Given the description of an element on the screen output the (x, y) to click on. 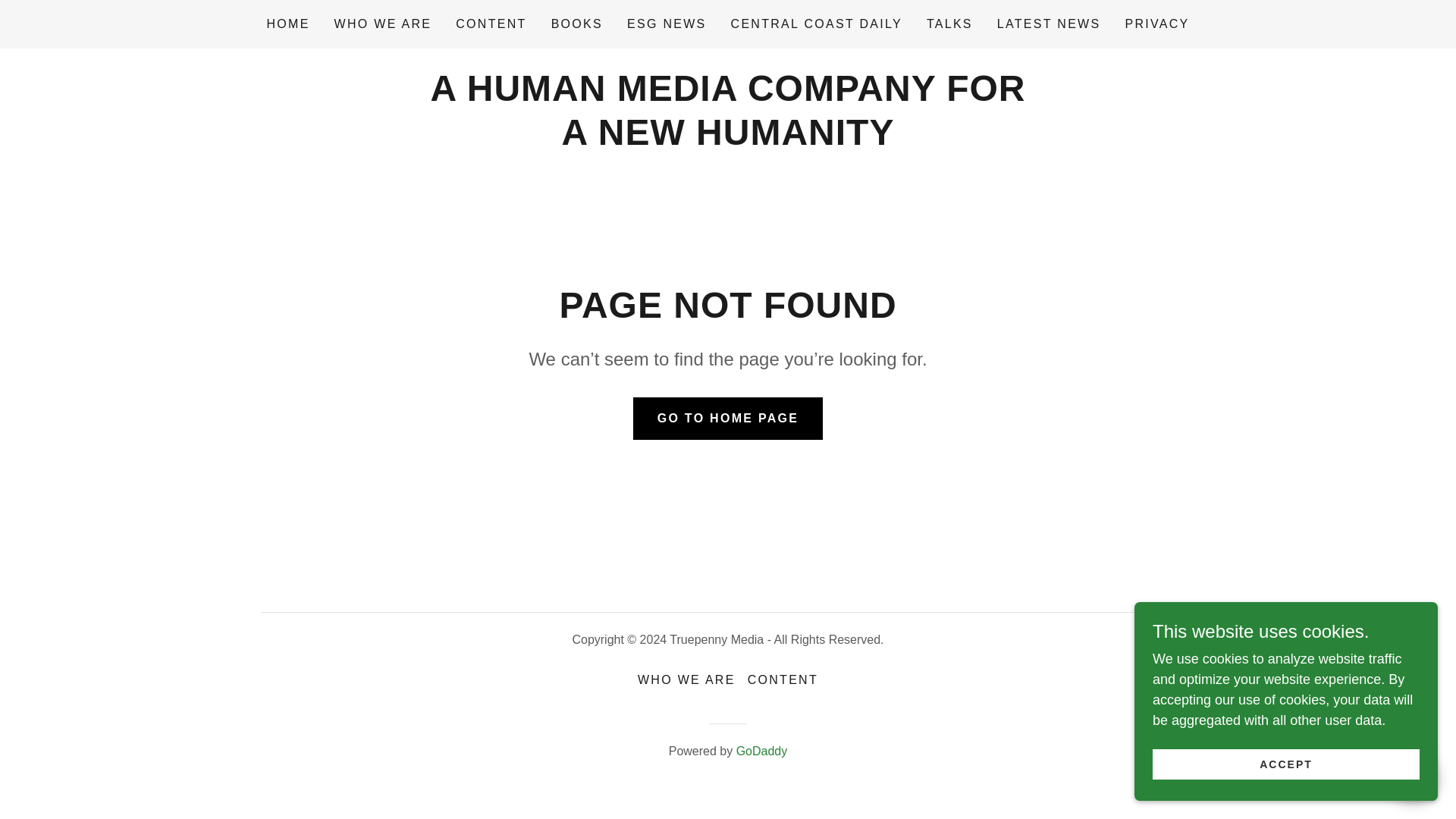
GO TO HOME PAGE (728, 418)
A HUMAN MEDIA COMPANY FOR A NEW HUMANITY (727, 140)
ACCEPT (1286, 764)
CENTRAL COAST DAILY (816, 23)
BOOKS (577, 23)
CONTENT (782, 679)
PRIVACY (1156, 23)
A HUMAN MEDIA COMPANY FOR A NEW HUMANITY (727, 140)
WHO WE ARE (383, 23)
HOME (288, 23)
WHO WE ARE (686, 679)
TALKS (948, 23)
ESG NEWS (667, 23)
CONTENT (491, 23)
LATEST NEWS (1048, 23)
